Given the description of an element on the screen output the (x, y) to click on. 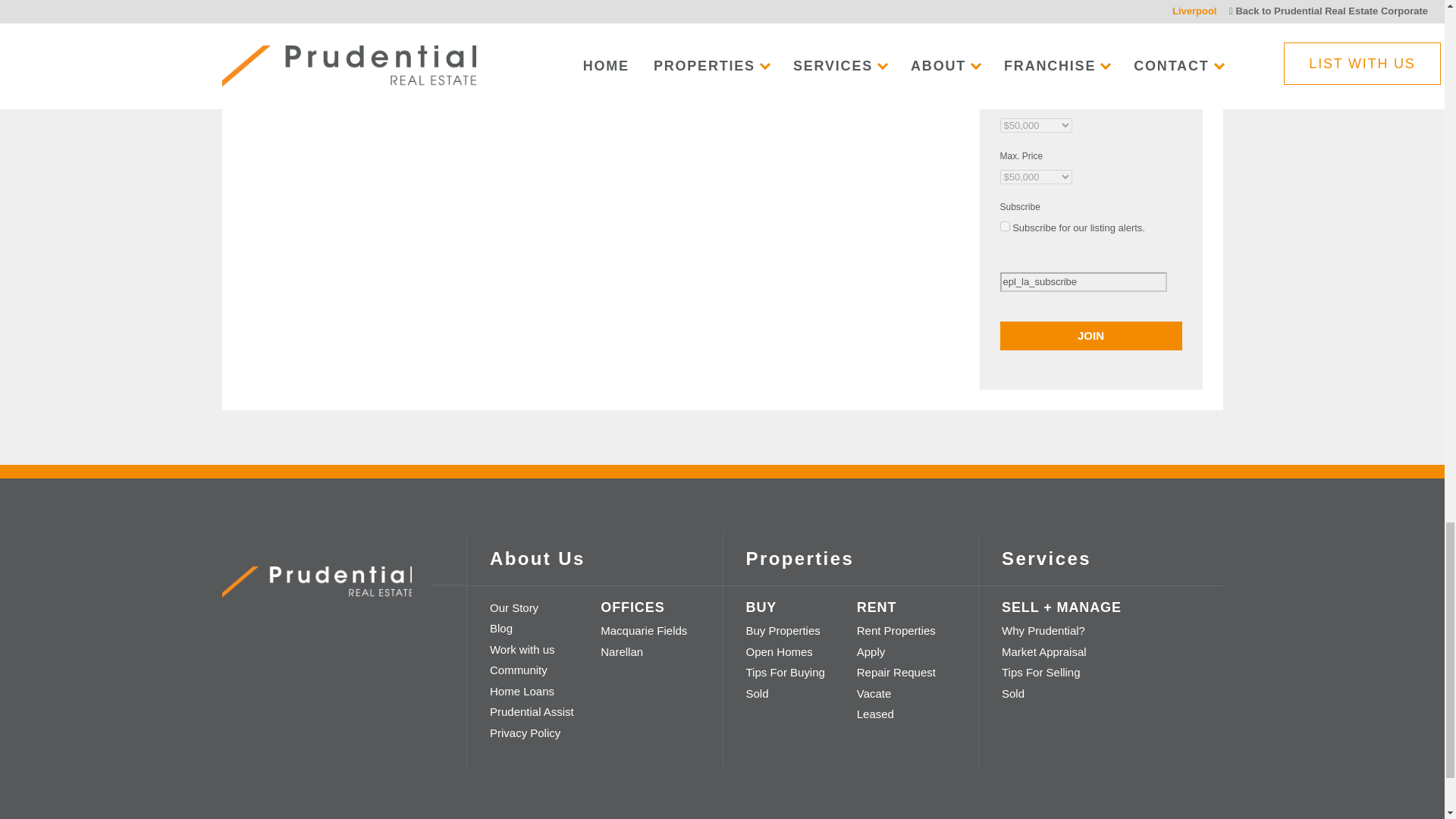
Join (1089, 335)
1 (1003, 225)
